Given the description of an element on the screen output the (x, y) to click on. 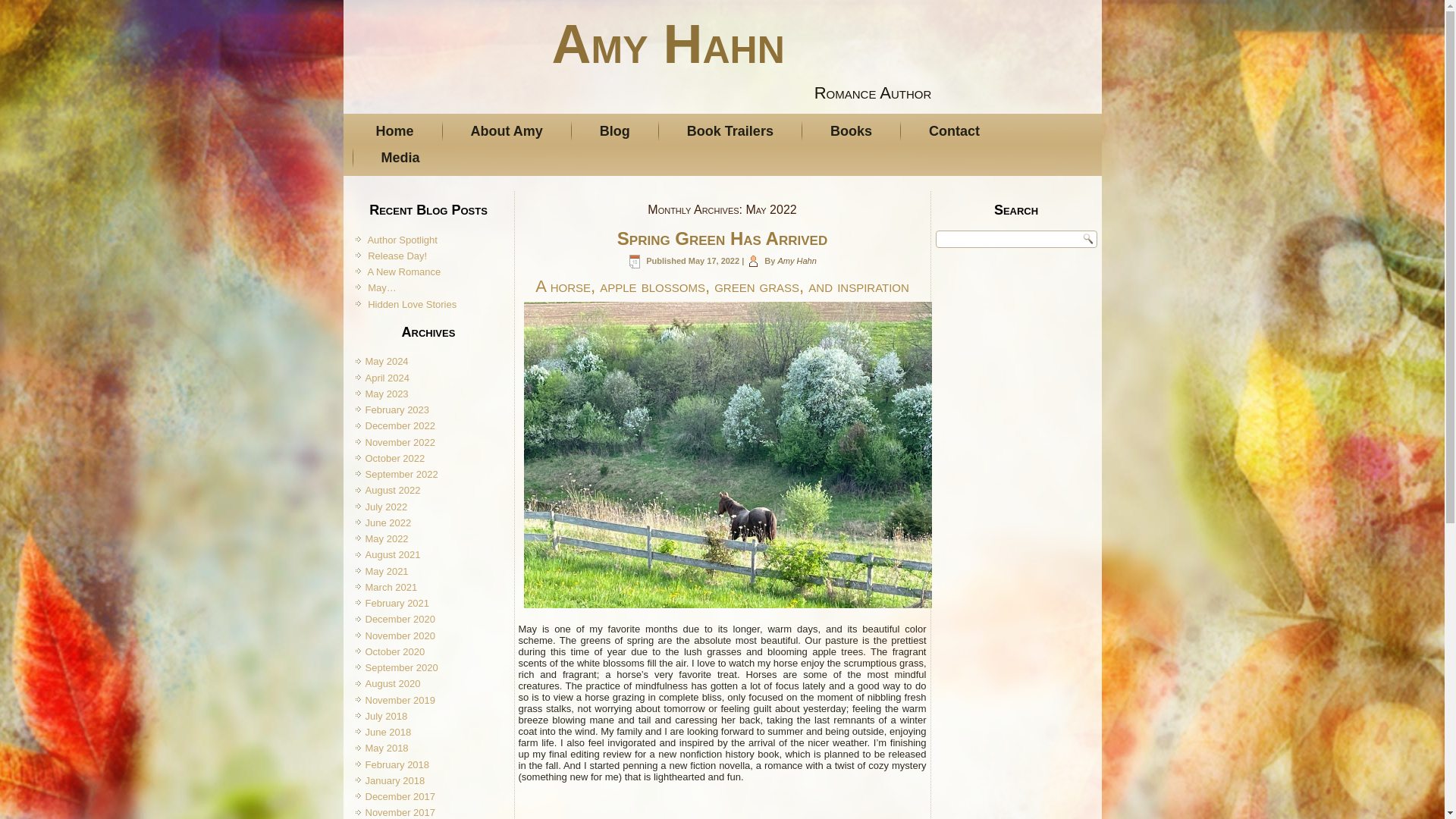
A New Romance (403, 271)
About Amy (506, 130)
February 2021 (397, 603)
September 2020 (401, 667)
9:41 pm (713, 260)
February 2023 (397, 409)
December 2022 (400, 425)
Books (850, 130)
May 2018 (387, 747)
Blog (614, 130)
View all posts by Amy Hahn (796, 260)
May 2024 (387, 360)
August 2021 (392, 554)
Author Spotlight (402, 239)
Contact (954, 130)
